Given the description of an element on the screen output the (x, y) to click on. 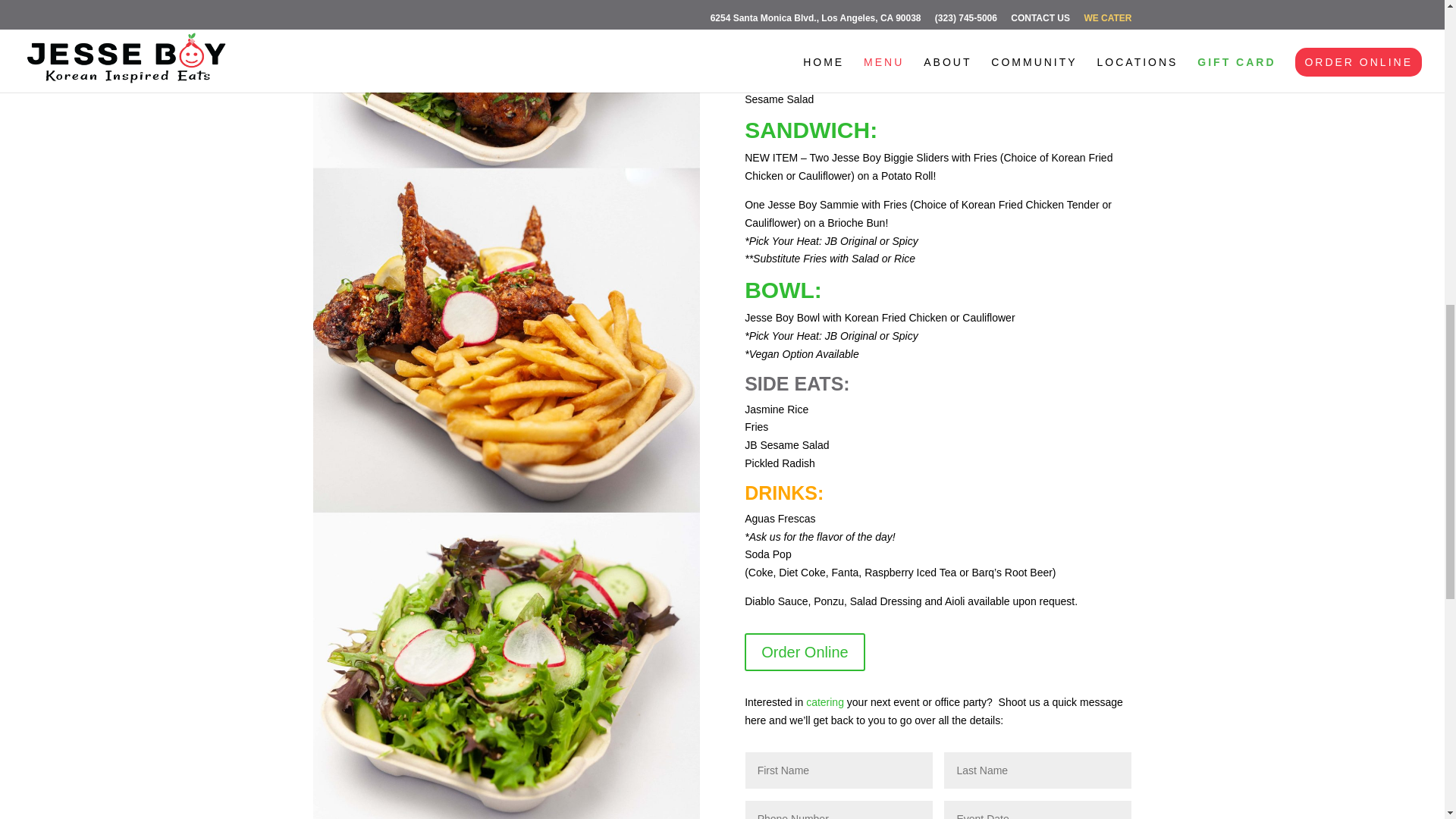
Order Online (804, 651)
catering (825, 702)
